Given the description of an element on the screen output the (x, y) to click on. 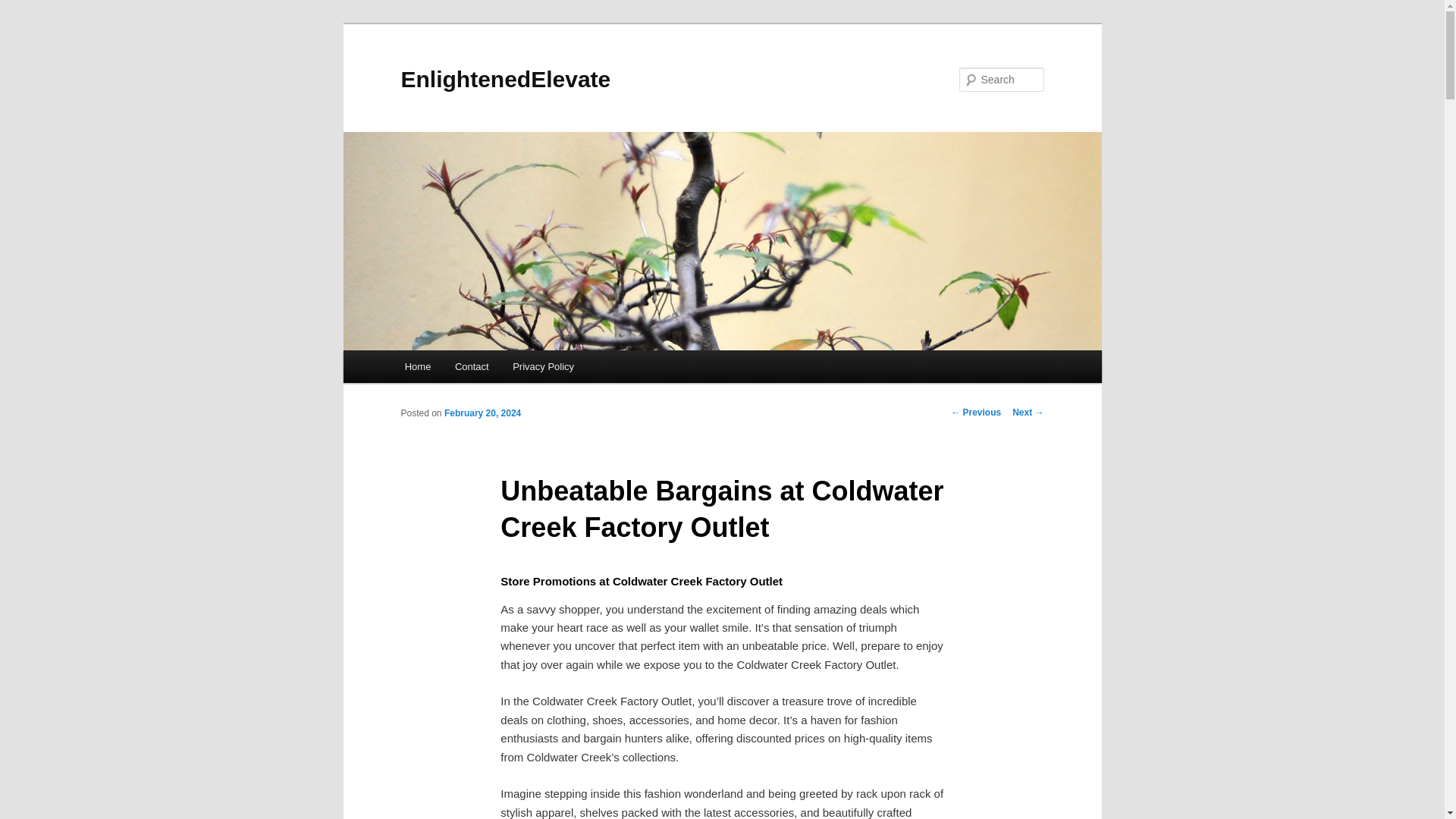
February 20, 2024 (482, 412)
Privacy Policy (542, 366)
8:47 pm (482, 412)
Contact (471, 366)
Search (24, 8)
EnlightenedElevate (505, 78)
Home (417, 366)
